Given the description of an element on the screen output the (x, y) to click on. 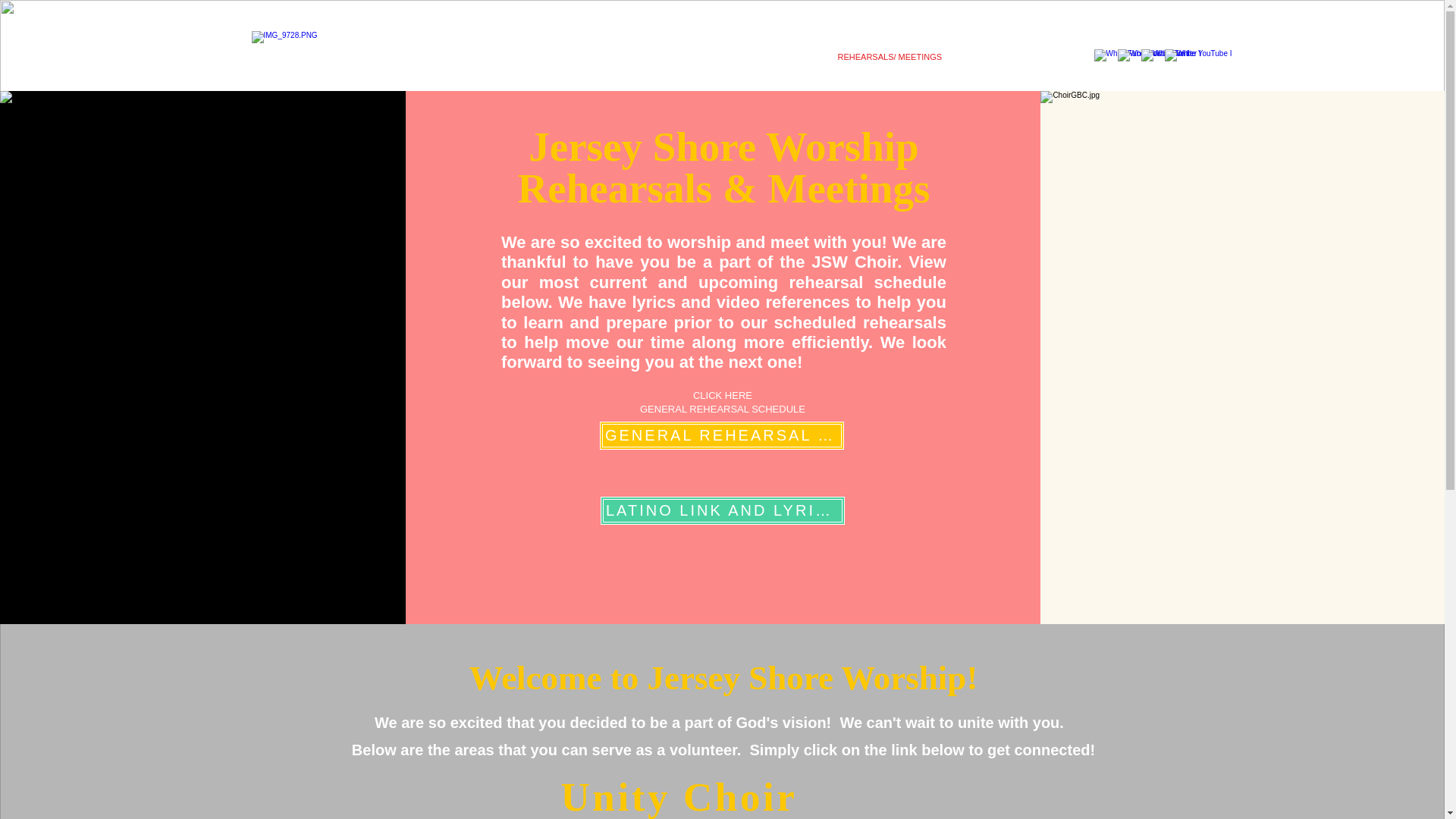
REGISTRATION (767, 56)
EVENTS (670, 56)
GENERAL REHEARSAL INFO (721, 435)
HOME (405, 56)
Unity Builders Network (534, 56)
LATINO LINK AND LYRICS (721, 510)
